Given the description of an element on the screen output the (x, y) to click on. 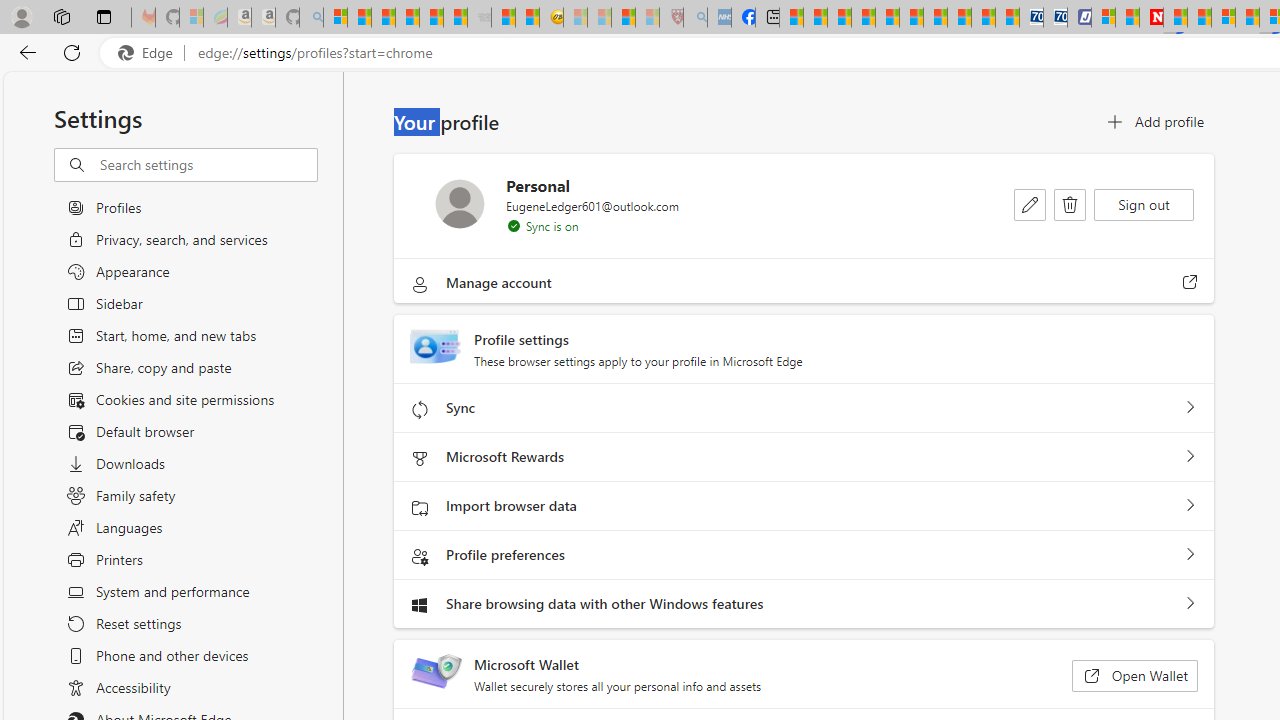
Profile preferences (1190, 555)
The Weather Channel - MSN (383, 17)
Recipes - MSN - Sleeping (575, 17)
Edge (150, 53)
Robert H. Shmerling, MD - Harvard Health - Sleeping (671, 17)
Class: c01881 (1070, 205)
Climate Damage Becomes Too Severe To Reverse (863, 17)
Cheap Car Rentals - Save70.com (1031, 17)
Edit (1030, 204)
Import browser data (1190, 506)
